Given the description of an element on the screen output the (x, y) to click on. 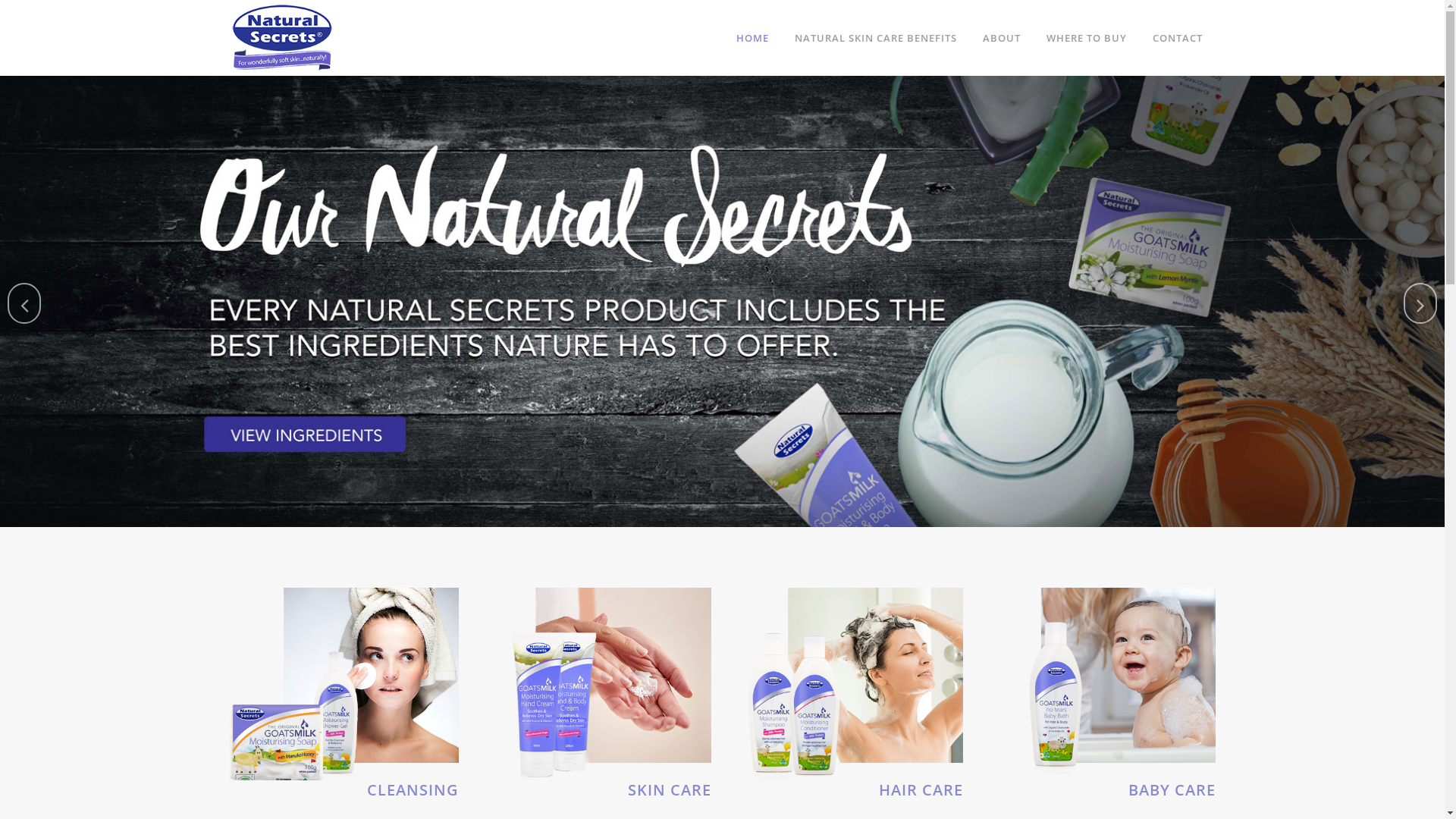
HOME Element type: text (752, 37)
WHERE TO BUY Element type: text (1085, 37)
NATURAL SKIN CARE BENEFITS Element type: text (875, 37)
ABOUT Element type: text (1000, 37)
CONTACT Element type: text (1176, 37)
